Given the description of an element on the screen output the (x, y) to click on. 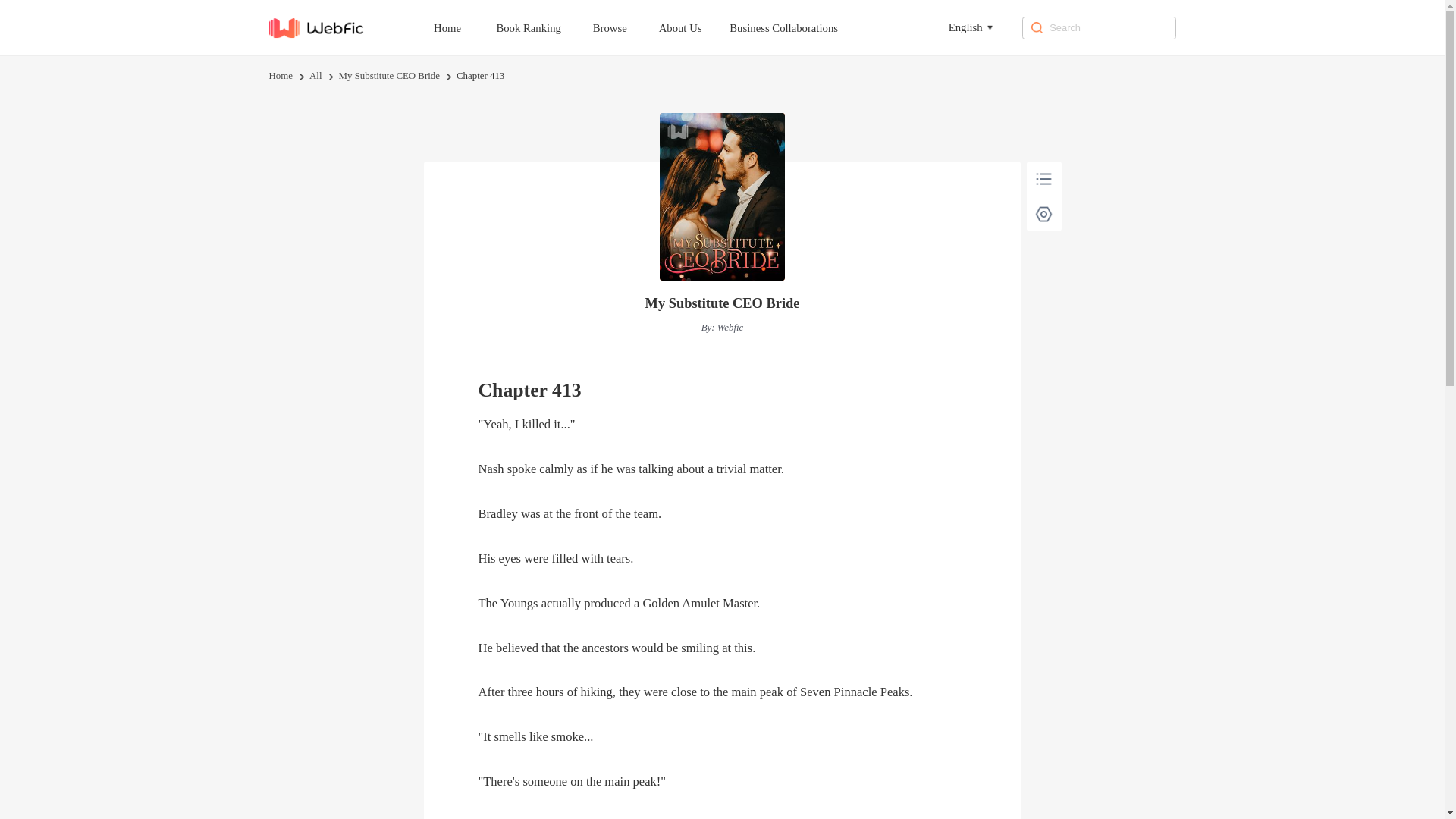
Book Ranking (542, 27)
My Substitute CEO Bride (722, 303)
Business Collaborations (797, 27)
My Substitute CEO Bride (389, 76)
About Us (694, 27)
Browse (624, 27)
Home (461, 27)
Home (279, 76)
